Given the description of an element on the screen output the (x, y) to click on. 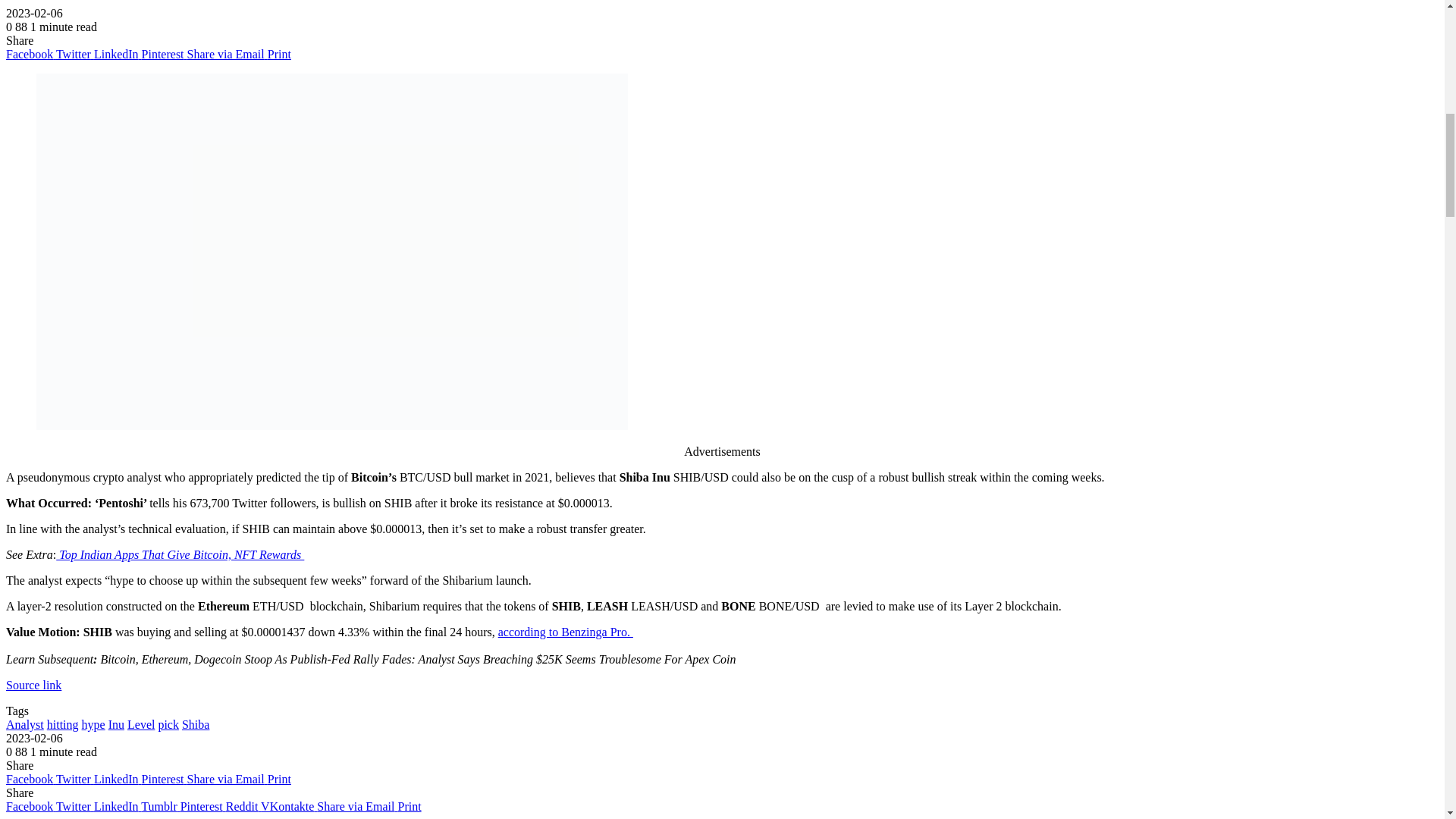
Print (279, 53)
Facebook (30, 53)
Facebook (30, 779)
Twitter (75, 53)
LinkedIn (117, 53)
Pinterest (164, 53)
Share via Email (227, 53)
Twitter (75, 779)
